Given the description of an element on the screen output the (x, y) to click on. 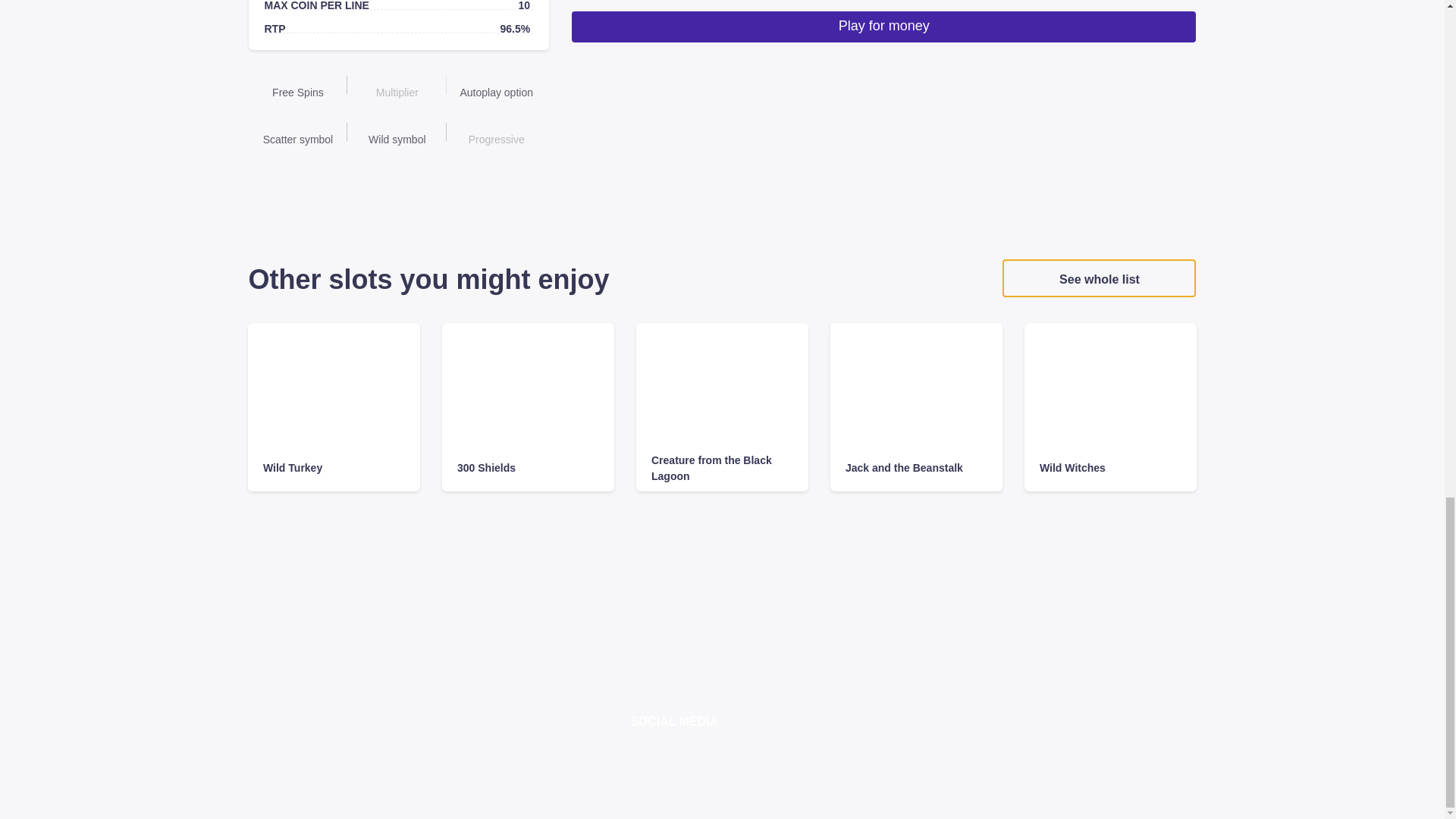
See whole list (1099, 278)
Play for money (883, 26)
300 Shields (528, 468)
Creature from the Black Lagoon (722, 468)
Wild Turkey (333, 468)
